Given the description of an element on the screen output the (x, y) to click on. 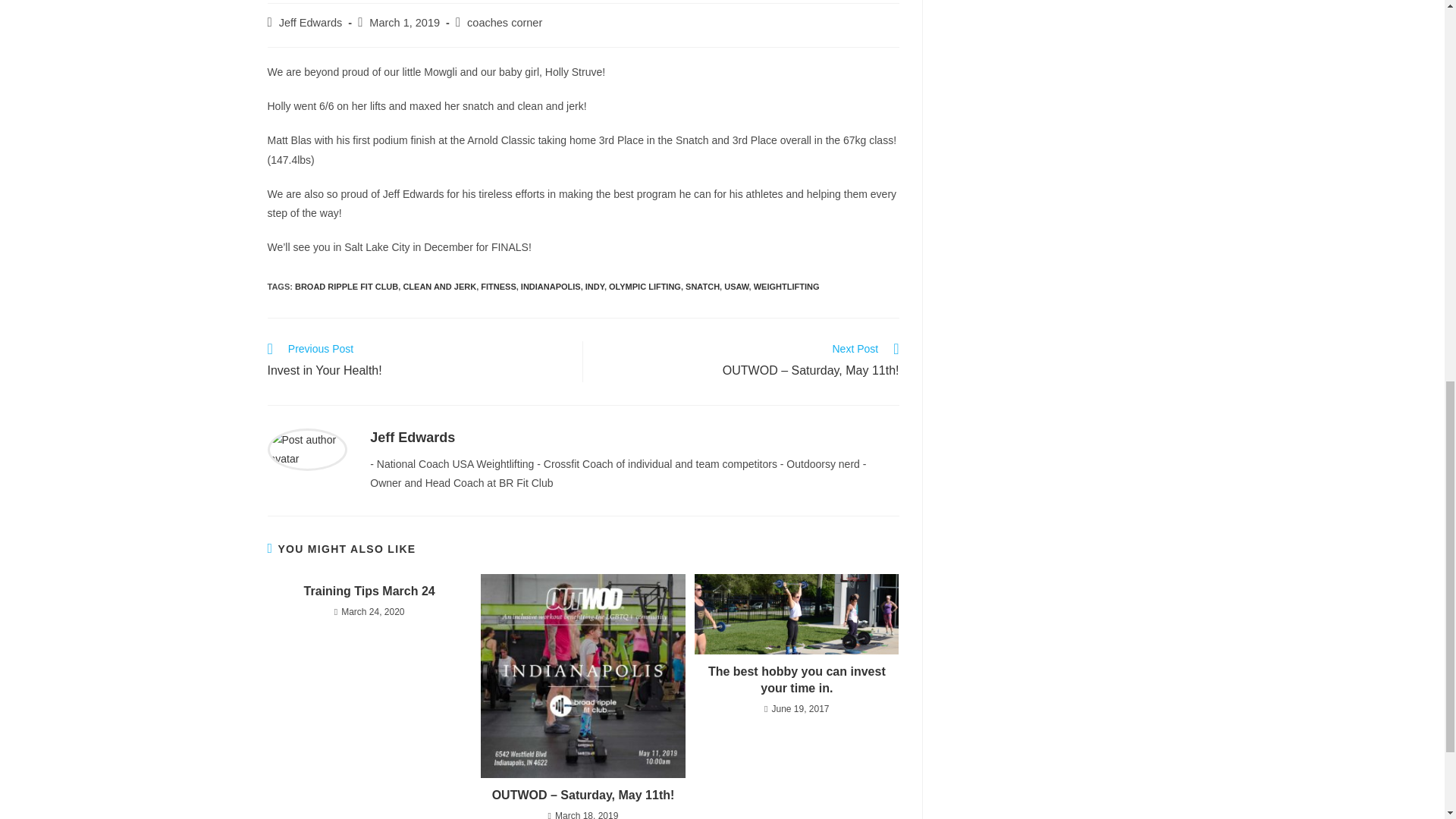
USAW (735, 286)
Posts by Jeff Edwards (310, 22)
Jeff Edwards (310, 22)
Jeff Edwards (411, 437)
Visit author page (411, 437)
FITNESS (497, 286)
SNATCH (702, 286)
OLYMPIC LIFTING (644, 286)
Visit author page (306, 449)
INDY (594, 286)
